Given the description of an element on the screen output the (x, y) to click on. 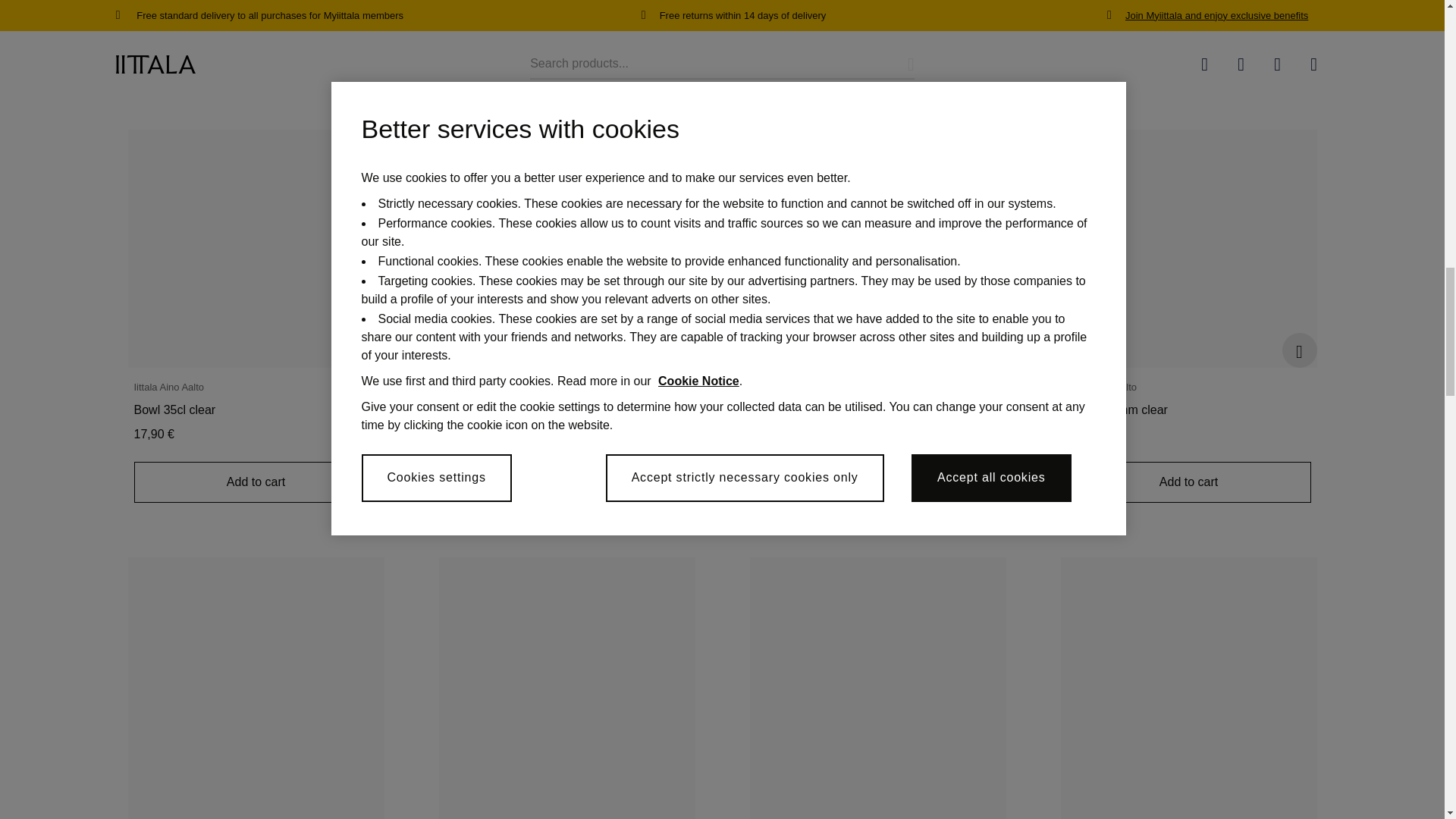
Add to cart (1187, 481)
Add to cart (566, 481)
Add to cart (876, 481)
Add to cart (255, 481)
